Given the description of an element on the screen output the (x, y) to click on. 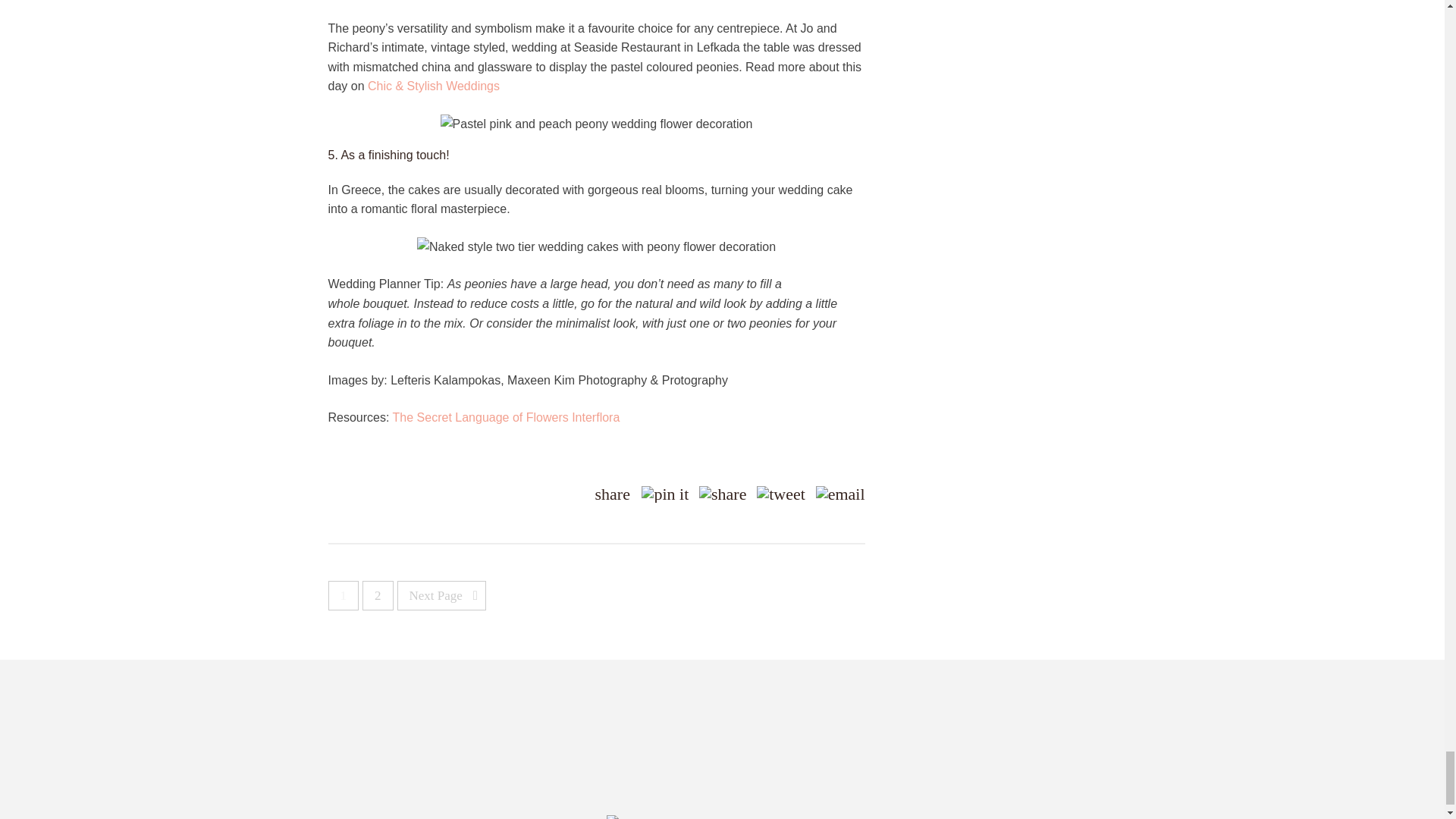
Share by Email (839, 494)
